Given the description of an element on the screen output the (x, y) to click on. 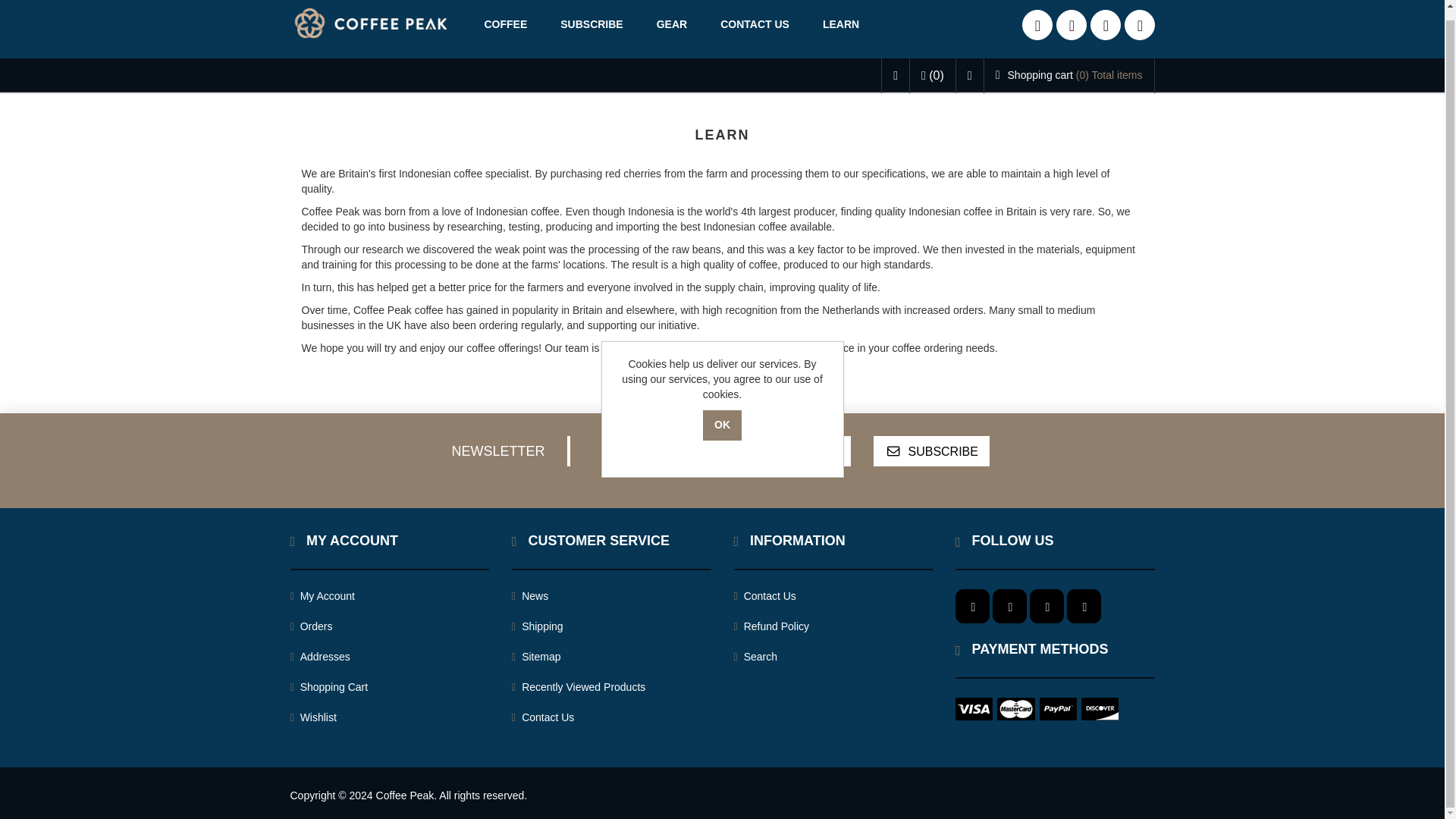
LEARN (841, 25)
Orders (310, 626)
SUBSCRIBE (591, 25)
Subscribe (930, 450)
GEAR (671, 25)
Shopping Cart (328, 687)
Recently Viewed Products (578, 687)
Wishlist (312, 717)
CONTACT US (754, 25)
Addresses (319, 657)
